Given the description of an element on the screen output the (x, y) to click on. 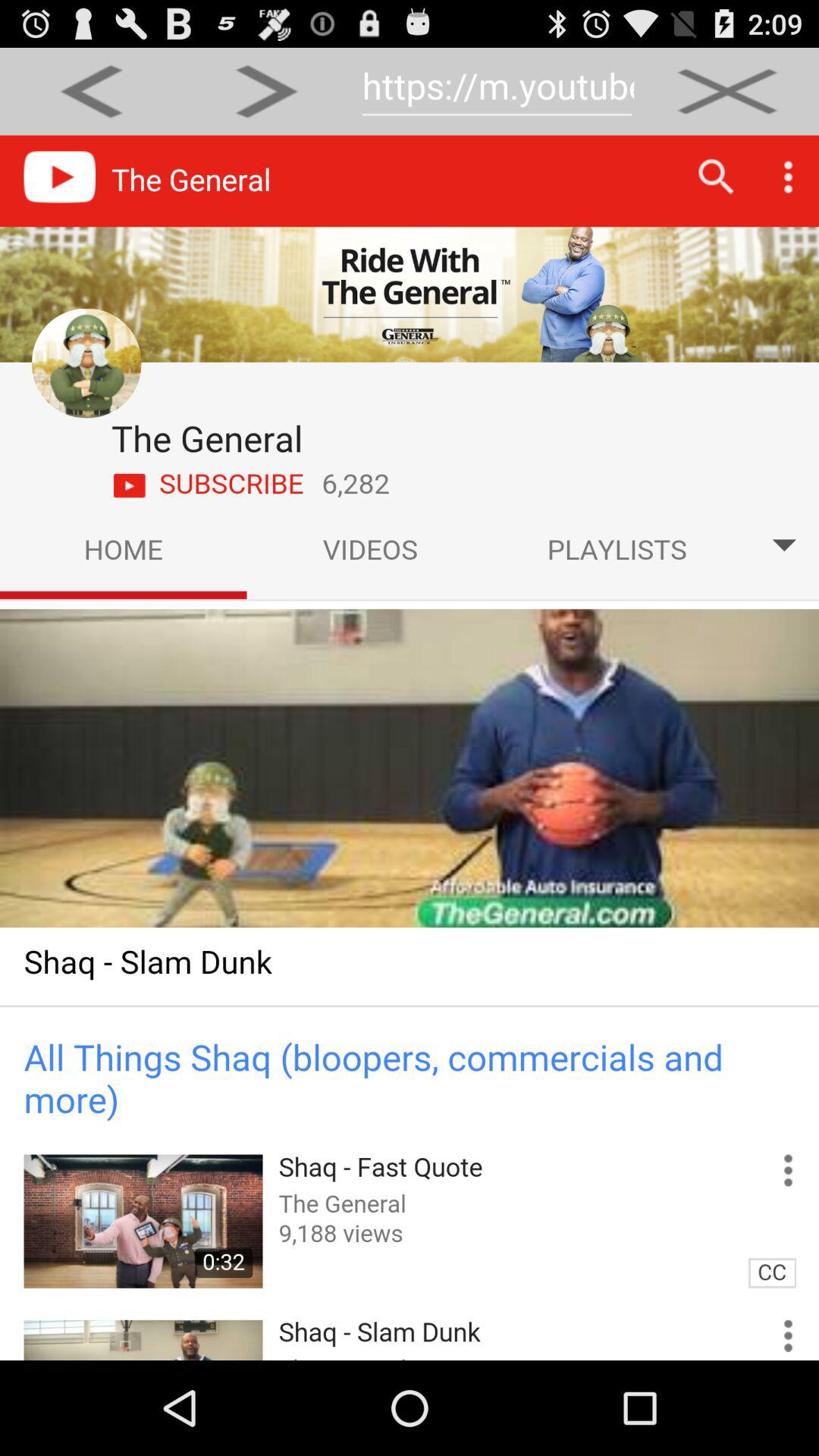
close the app (727, 91)
